Given the description of an element on the screen output the (x, y) to click on. 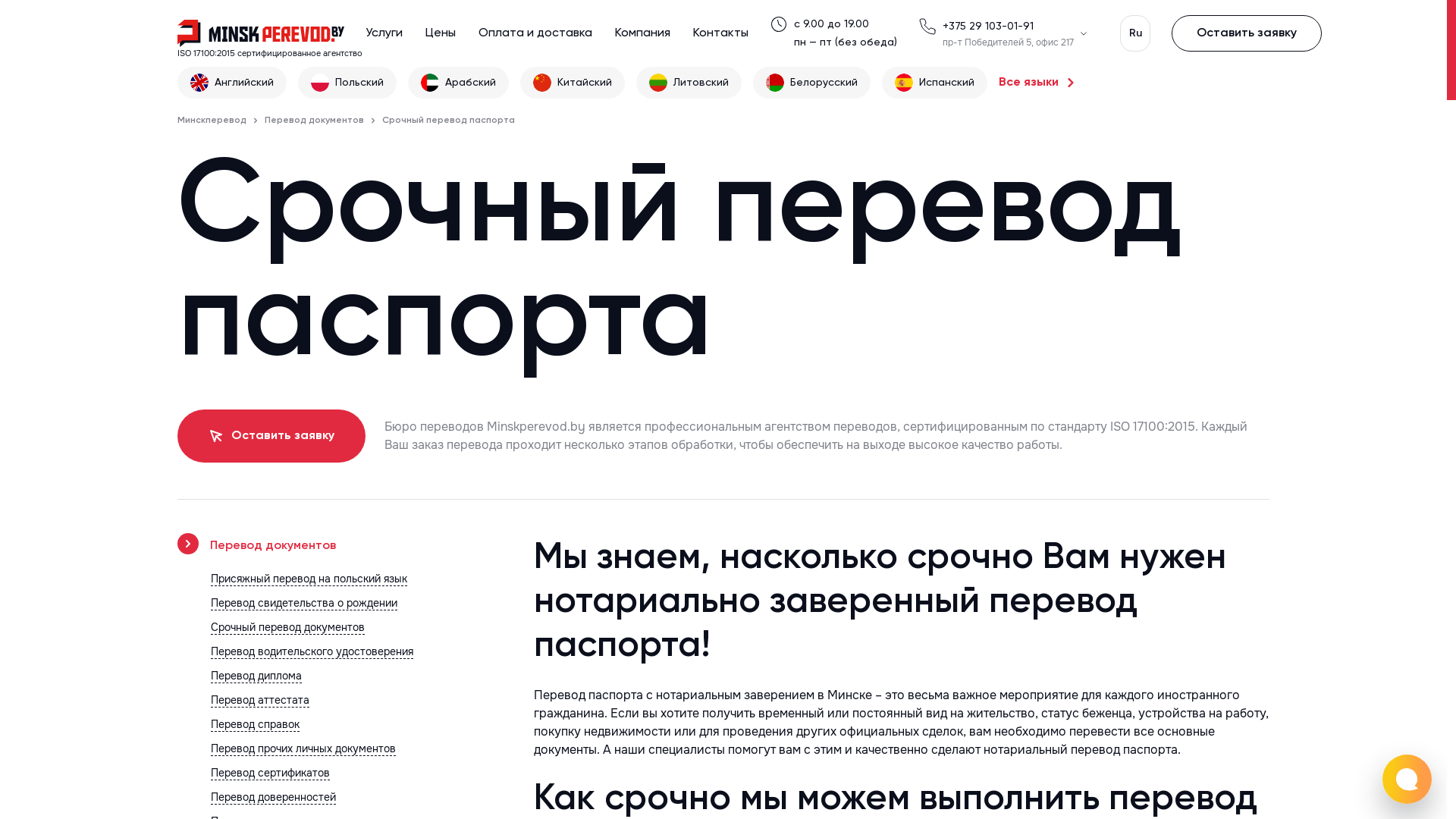
Ru Element type: text (1135, 33)
+375 29 103-01-91 Element type: text (987, 26)
